Given the description of an element on the screen output the (x, y) to click on. 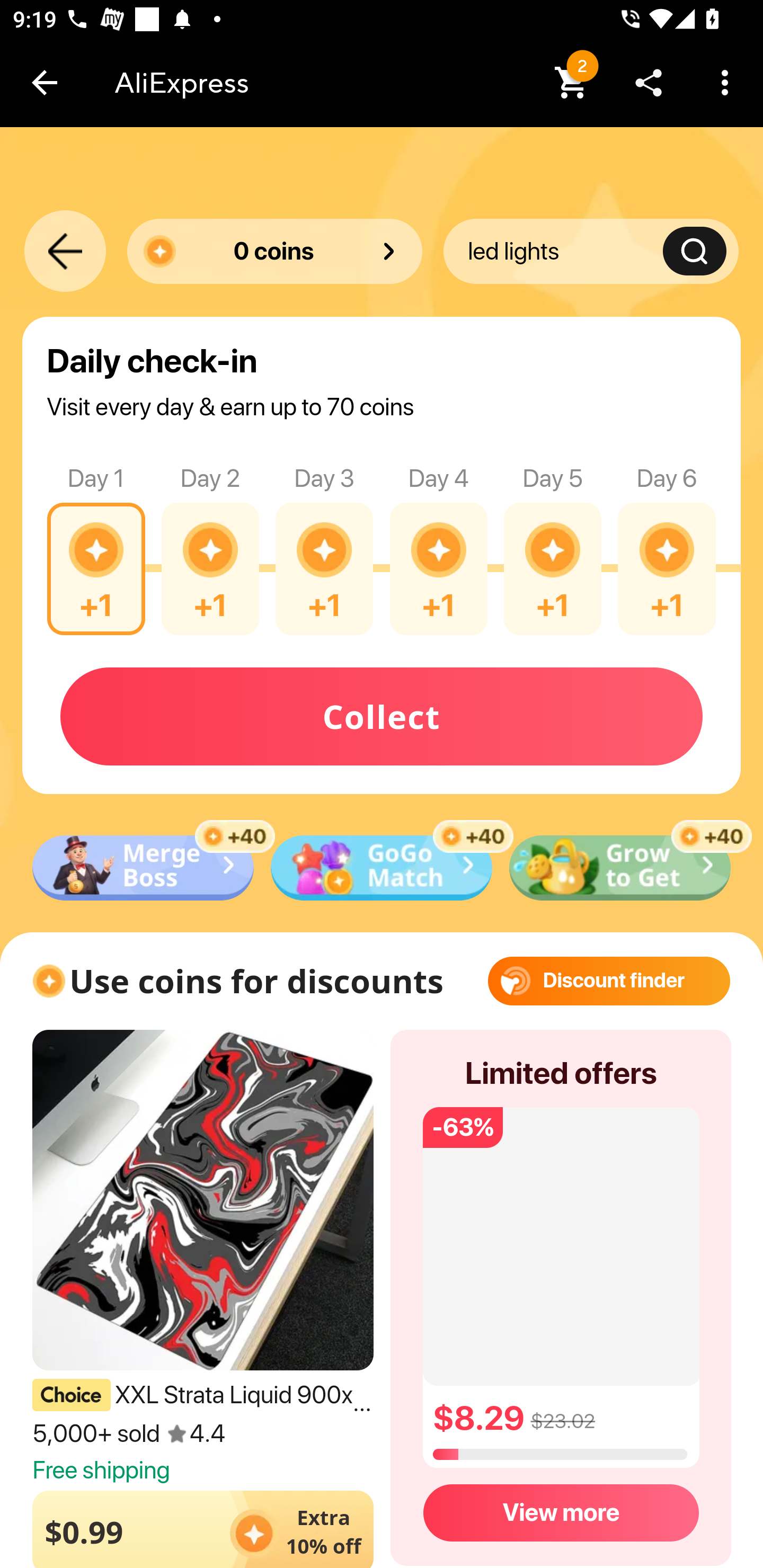
Navigate up (44, 82)
2 (572, 81)
Share (648, 81)
More… (724, 81)
0 coins Worth US $0.00 (274, 250)
led lights (564, 250)
Collect (381, 699)
Sab073cd82498427aa0945bcb8212325cq (143, 866)
Sab073cd82498427aa0945bcb8212325cq (381, 866)
Sab073cd82498427aa0945bcb8212325cq (619, 866)
64x64 Discount finder (609, 980)
